Given the description of an element on the screen output the (x, y) to click on. 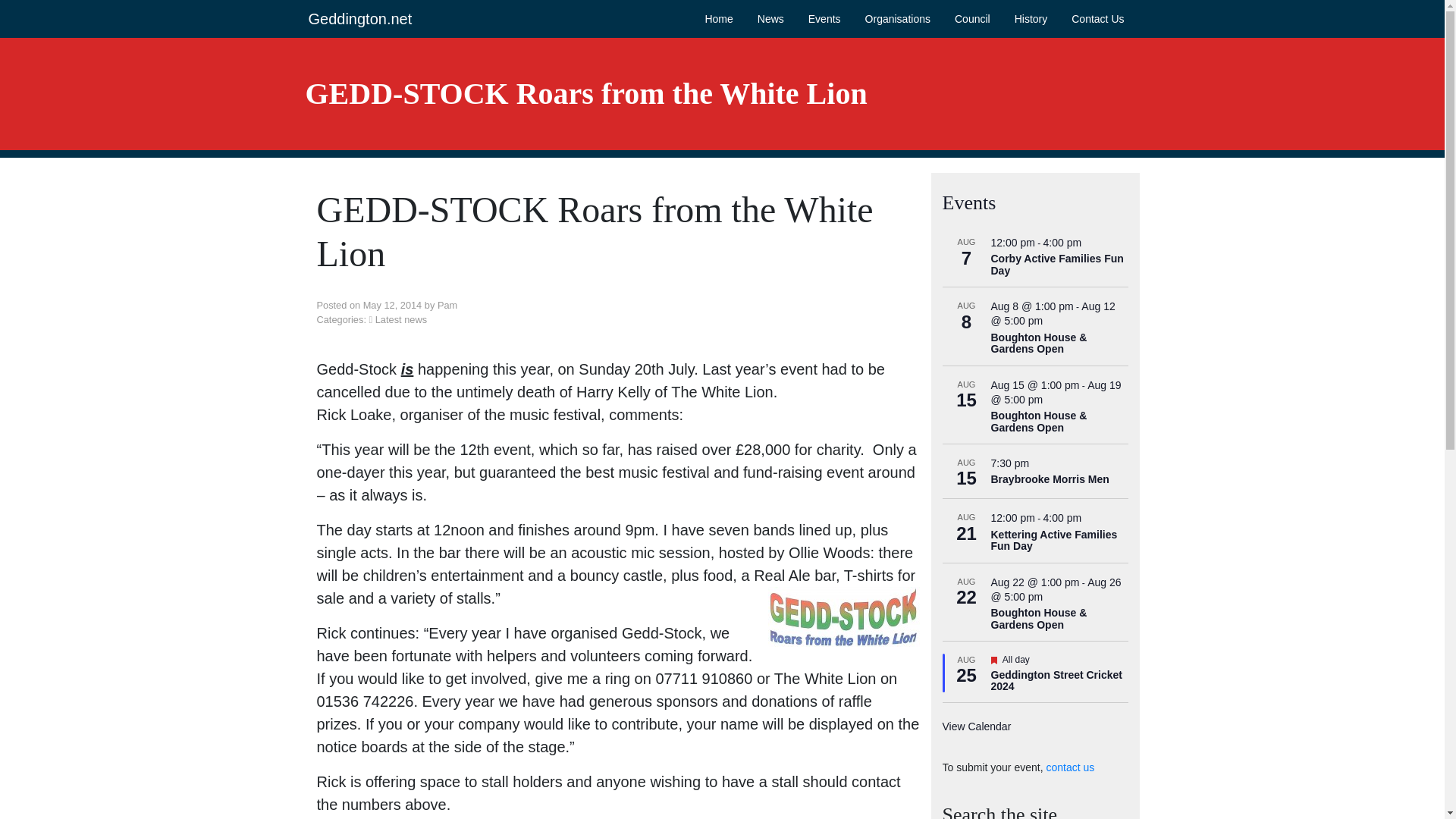
Geddington.net (359, 18)
Braybrooke Morris Men (1049, 479)
Contact Us (1097, 18)
Latest news (400, 319)
Braybrooke Morris Men (1049, 479)
May 12, 2014 (392, 305)
News (770, 18)
History (1031, 18)
Geddington Street Cricket 2024 (1055, 680)
Kettering Active Families Fun Day (1053, 540)
